Given the description of an element on the screen output the (x, y) to click on. 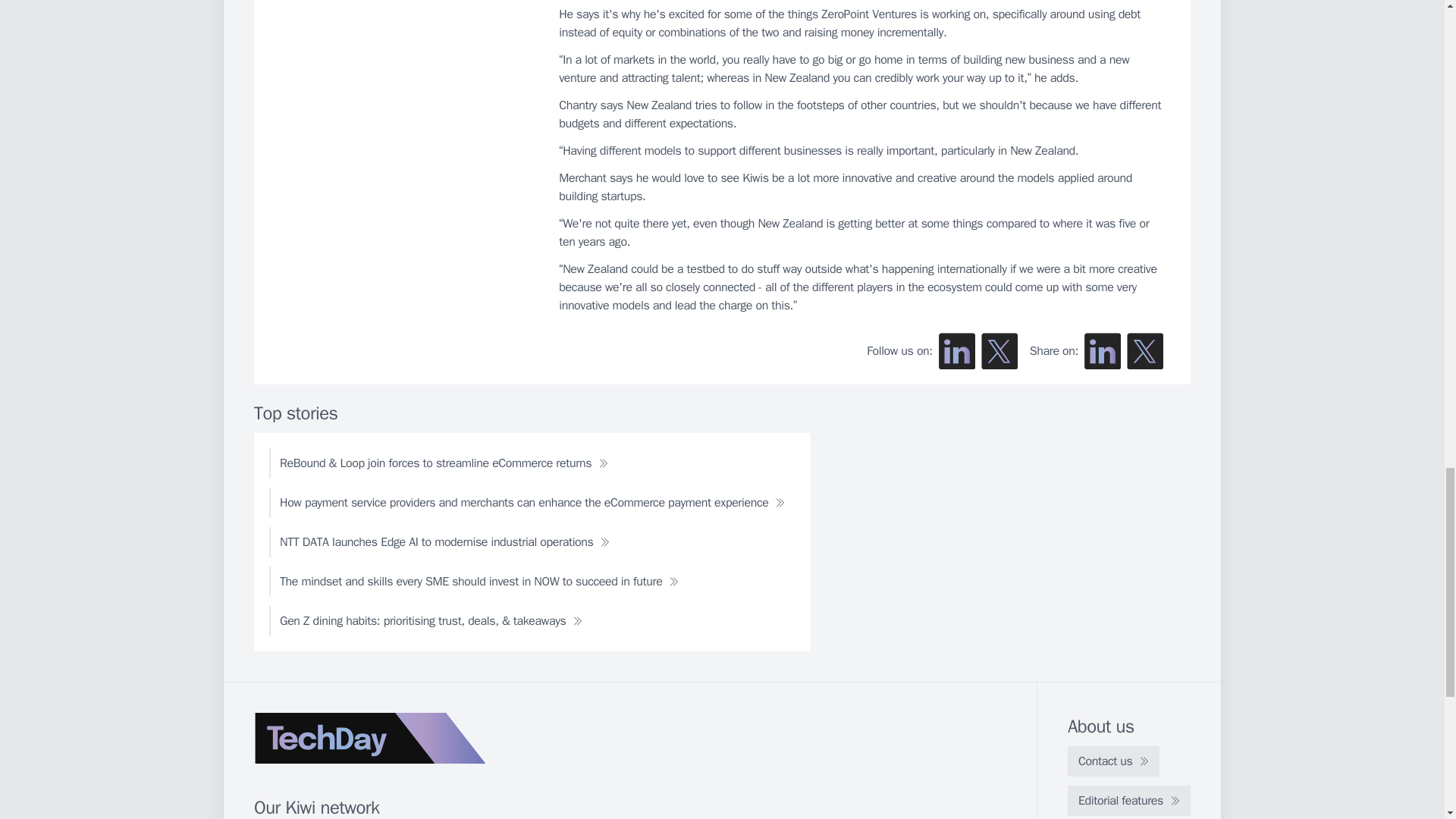
NTT DATA launches Edge AI to modernise industrial operations (444, 542)
